Given the description of an element on the screen output the (x, y) to click on. 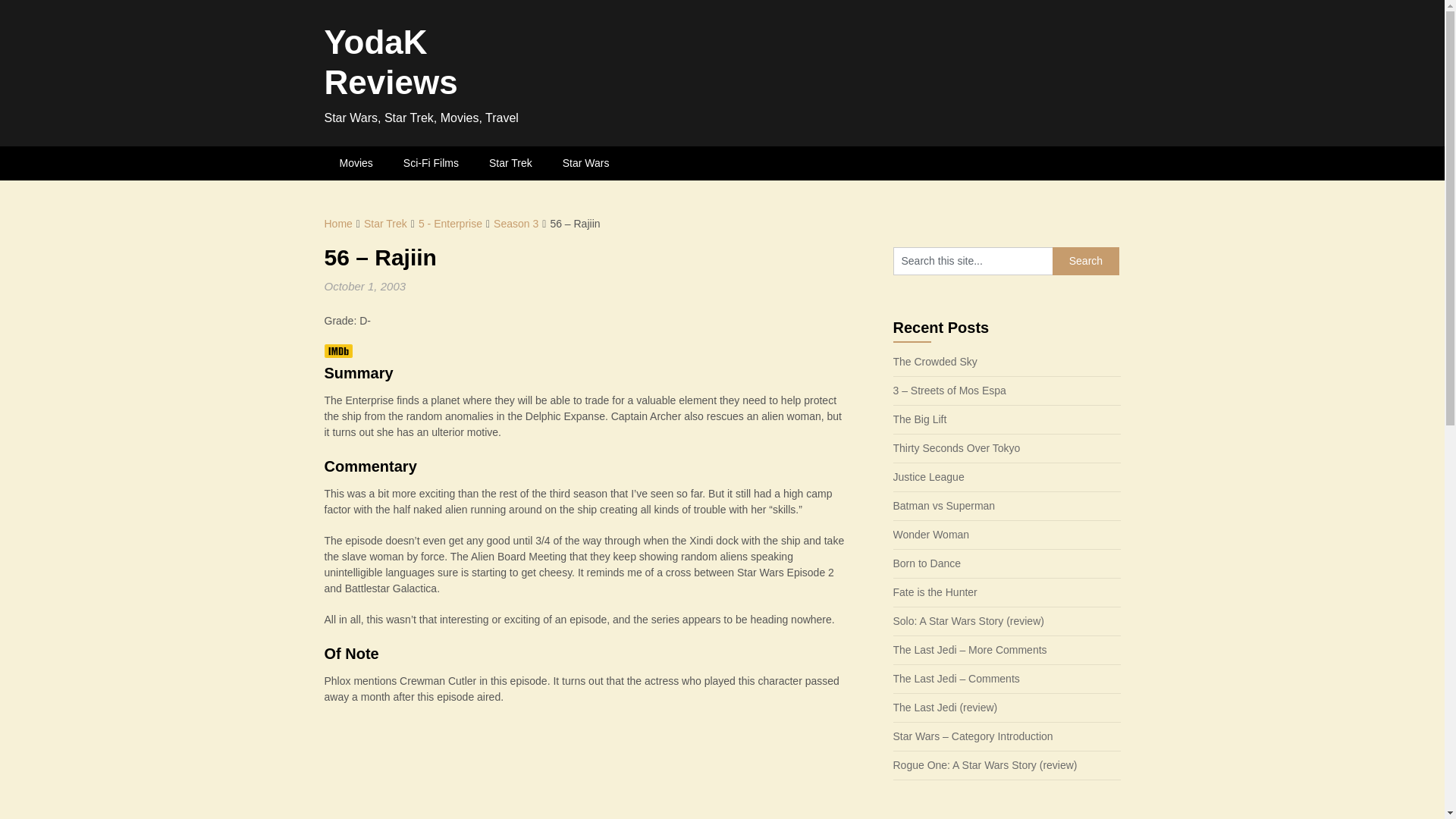
ENT 3x04 'Rajiin' Trailer (581, 769)
YodaK Reviews (391, 61)
Sci-Fi Films (431, 163)
Movies (356, 163)
Search this site... (972, 261)
Search (1085, 261)
Star Trek (510, 163)
